Given the description of an element on the screen output the (x, y) to click on. 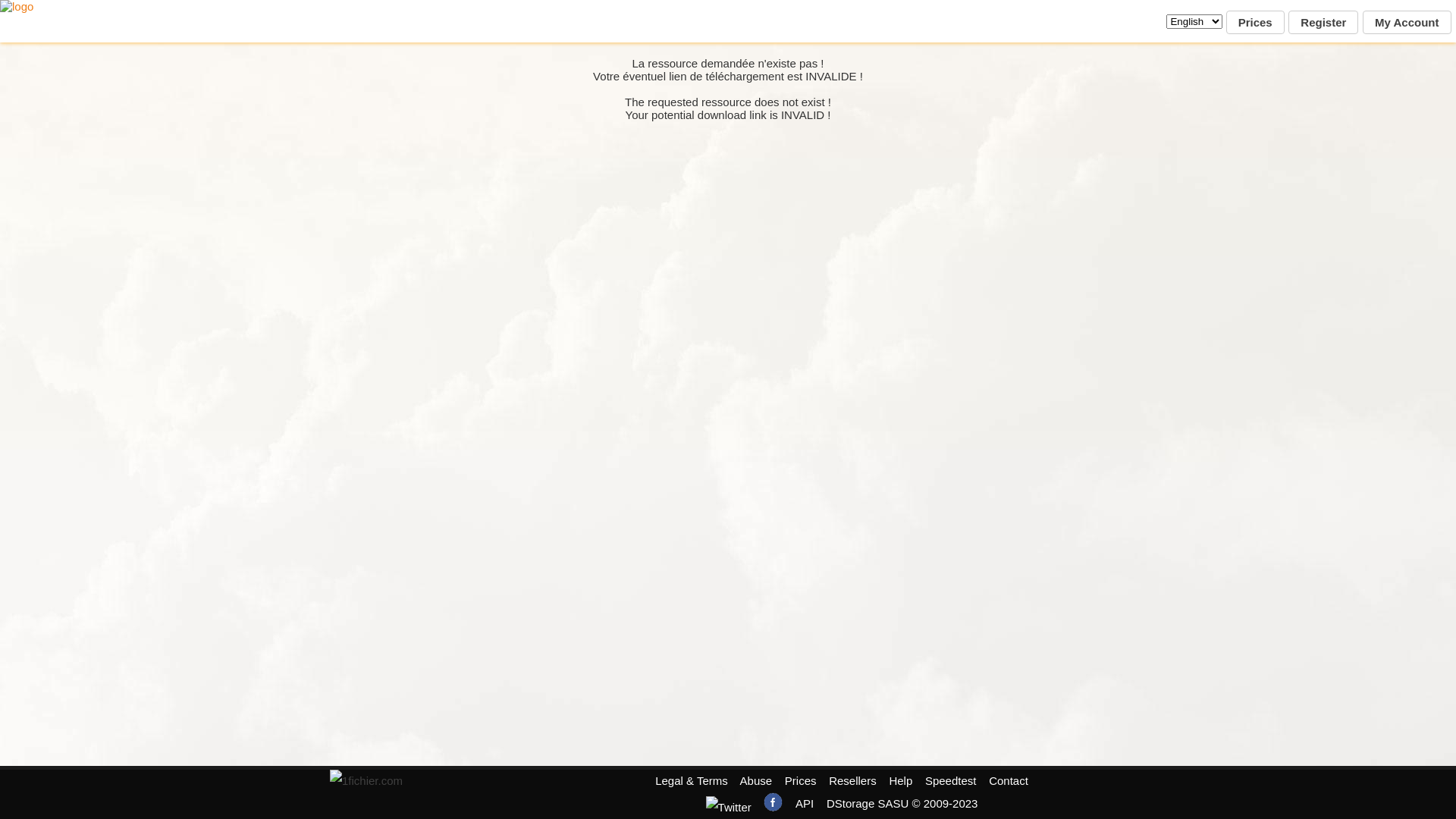
API Element type: text (804, 803)
Resellers Element type: text (852, 780)
Prices Element type: text (1255, 22)
Contact Element type: text (1008, 780)
Help Element type: text (900, 780)
Register Element type: text (1323, 22)
Prices Element type: text (800, 780)
Abuse Element type: text (756, 780)
Speedtest Element type: text (950, 780)
My Account Element type: text (1406, 22)
Legal & Terms Element type: text (691, 780)
